Given the description of an element on the screen output the (x, y) to click on. 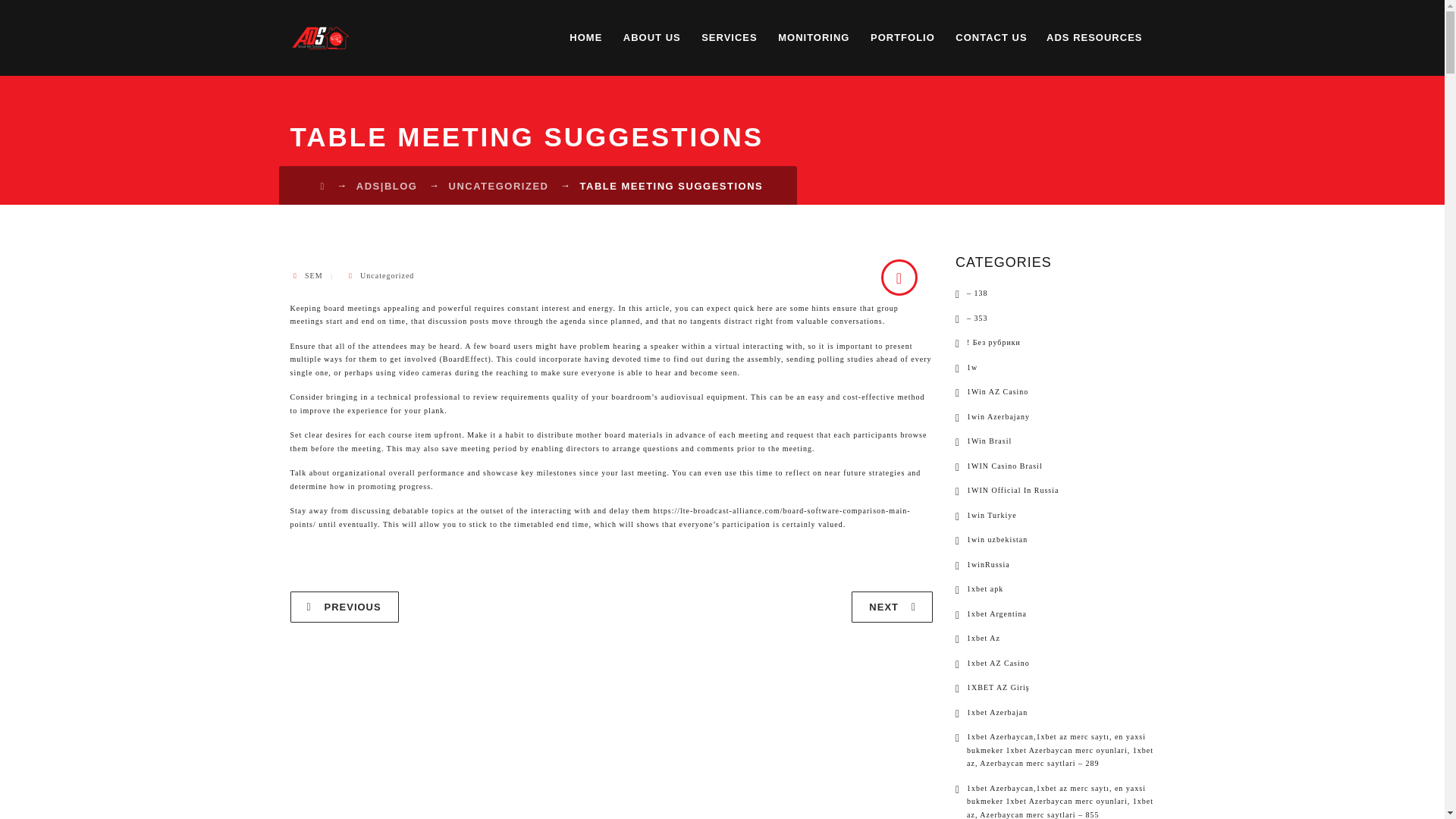
PREVIOUS (343, 606)
MONITORING (812, 38)
Find your perfect match: older women looking for younger men (343, 606)
Go to the Uncategorized category archives. (498, 185)
1Win AZ Casino (991, 391)
NEXT (892, 606)
Uncategorized (386, 275)
1WIN Official In Russia (1006, 490)
1win Turkiye (985, 514)
UNCATEGORIZED (498, 185)
ADS RESOURCES (1093, 38)
1win Azerbajany (992, 416)
1w (965, 367)
CONTACT US (990, 38)
